Given the description of an element on the screen output the (x, y) to click on. 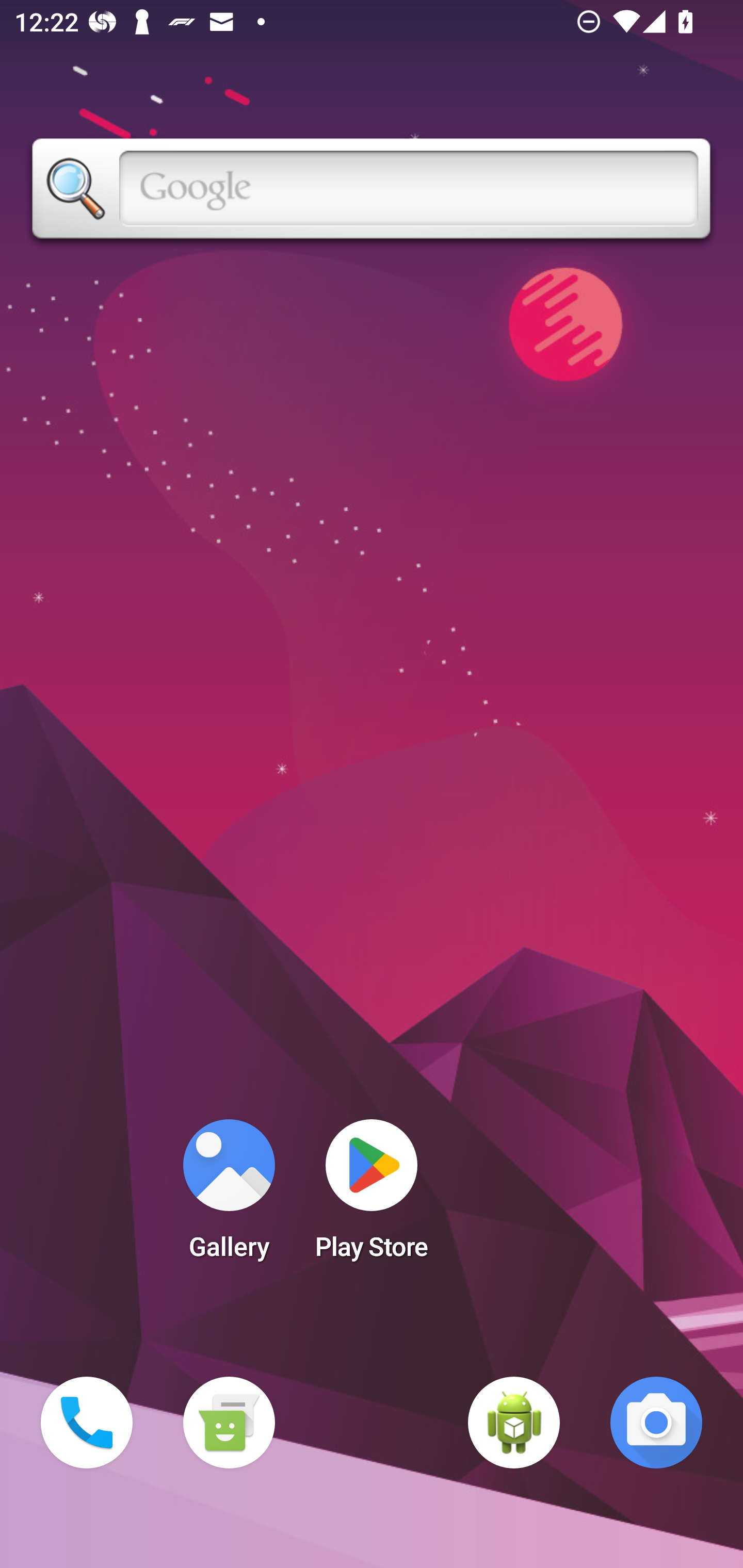
Gallery (228, 1195)
Play Store (371, 1195)
Phone (86, 1422)
Messaging (228, 1422)
WebView Browser Tester (513, 1422)
Camera (656, 1422)
